Given the description of an element on the screen output the (x, y) to click on. 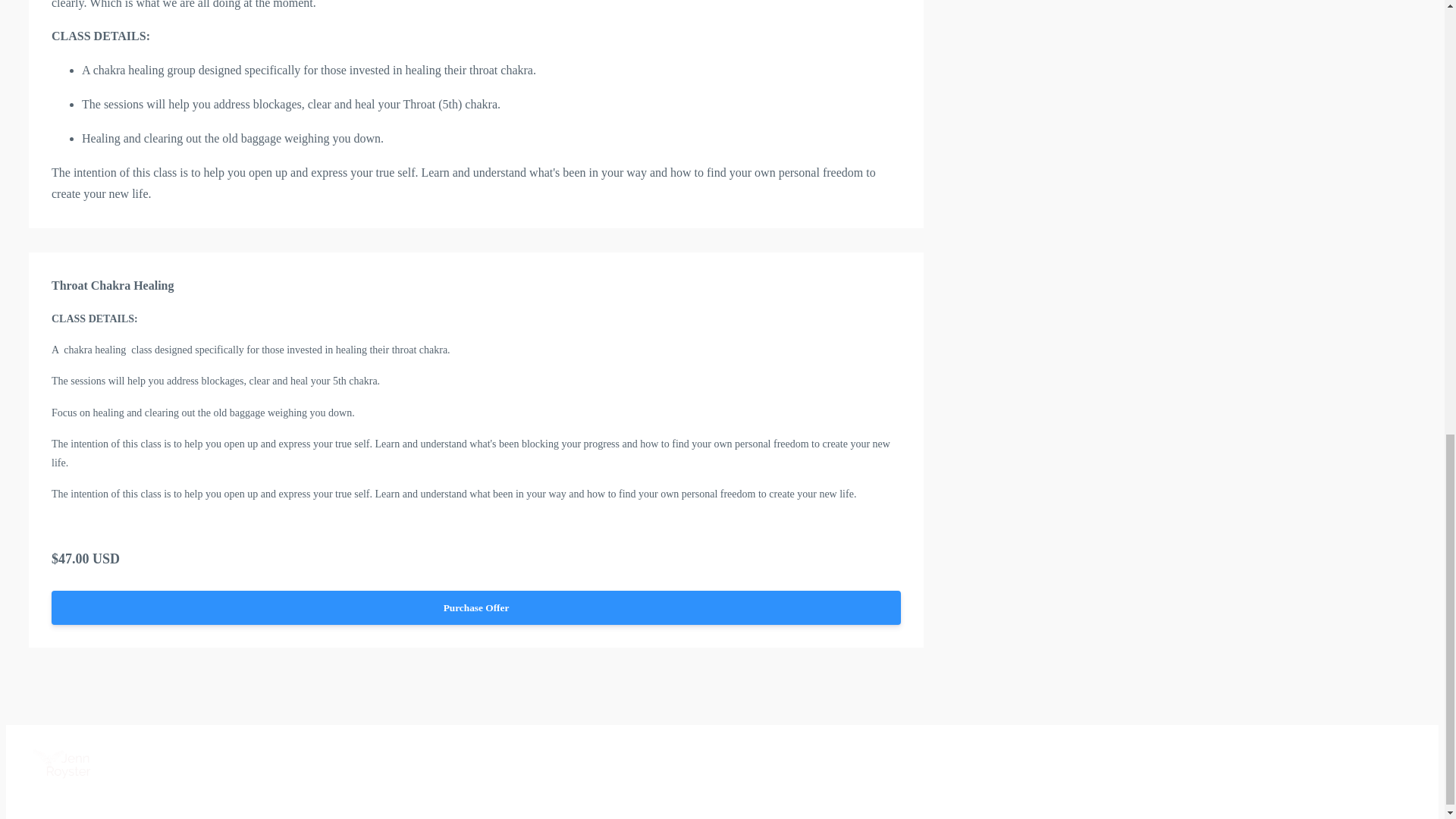
Disclaimers (838, 763)
Purchase Offer (475, 607)
Home (609, 763)
Terms (657, 763)
Privacy and Cookies (740, 763)
Contact (904, 763)
